Given the description of an element on the screen output the (x, y) to click on. 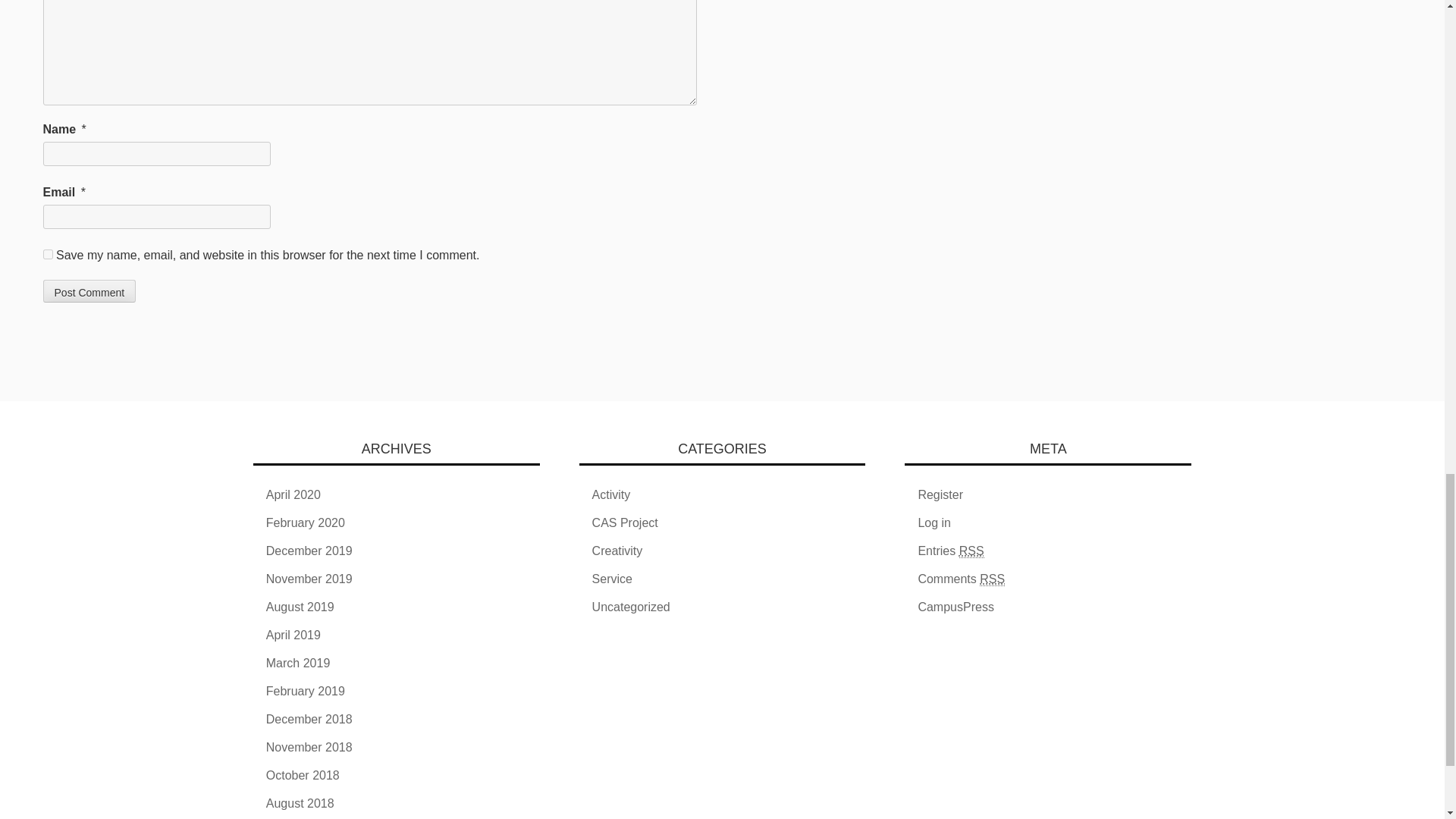
February 2019 (305, 690)
November 2019 (309, 578)
Uncategorized (630, 606)
April 2020 (293, 494)
Entries RSS (950, 550)
Syndicate this site using RSS 2.0 (950, 550)
March 2019 (298, 662)
August 2019 (300, 606)
November 2018 (309, 747)
The latest comments to all posts in RSS (960, 579)
Log in (933, 522)
Really Simple Syndication (991, 579)
August 2018 (300, 802)
CampusPress (954, 606)
October 2018 (302, 775)
